Given the description of an element on the screen output the (x, y) to click on. 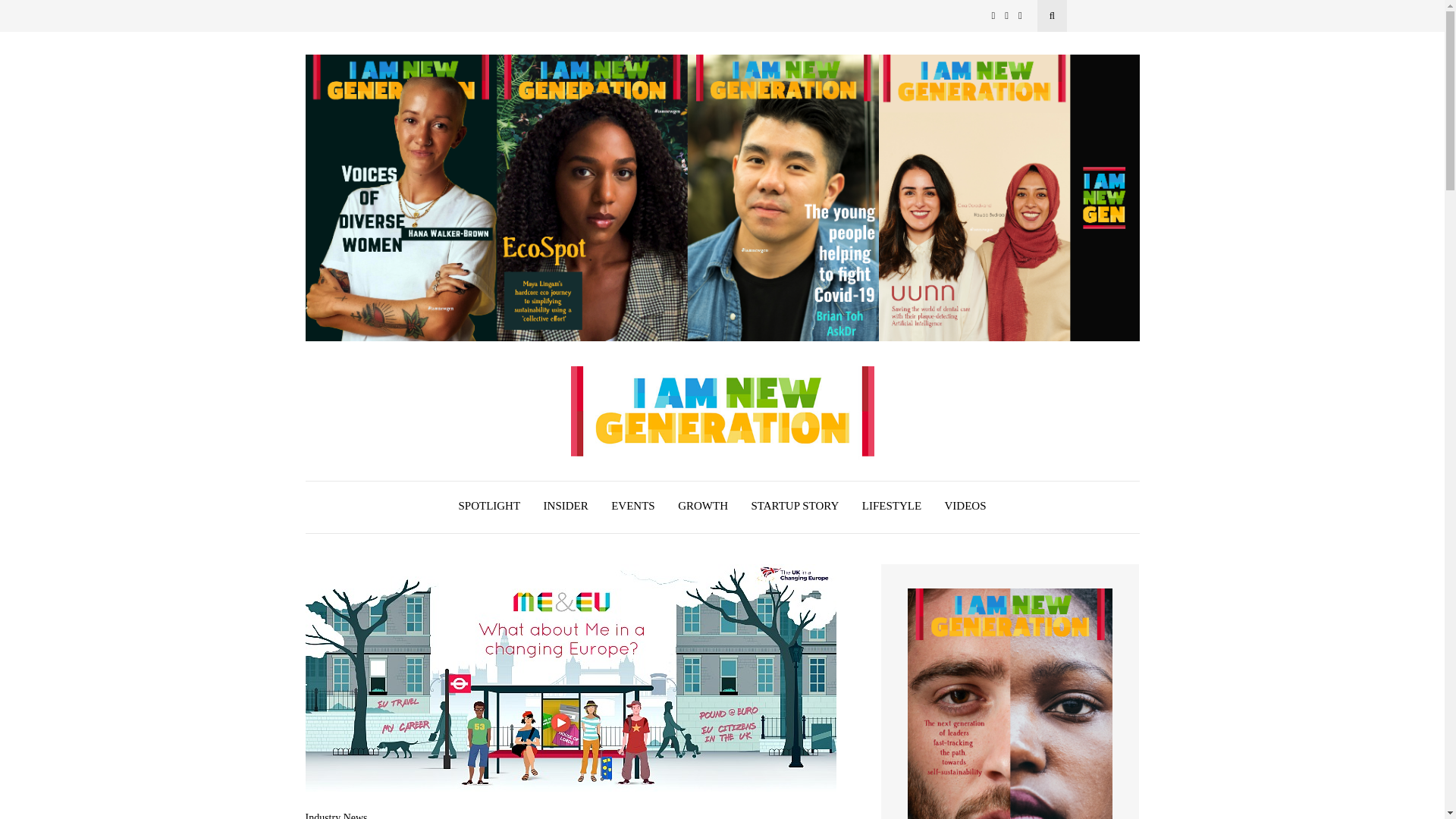
SPOTLIGHT (488, 507)
LIFESTYLE (891, 507)
STARTUP STORY (794, 507)
GROWTH (703, 507)
Industry News (335, 816)
View all posts in Industry News (335, 816)
